Given the description of an element on the screen output the (x, y) to click on. 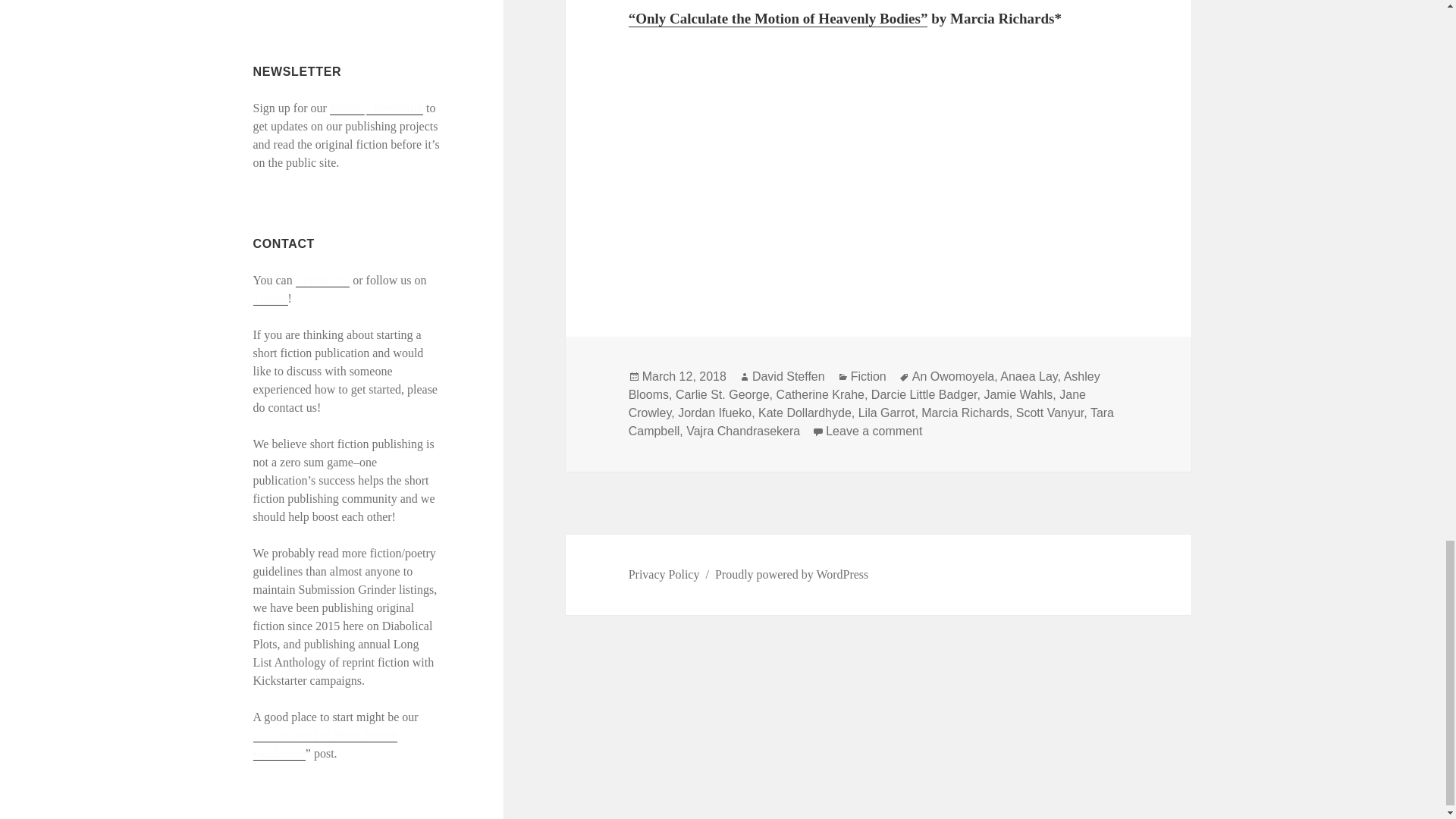
monthly newsletter (376, 108)
Contact Us (322, 280)
David Steffen (788, 377)
March 12, 2018 (684, 377)
Twitter (270, 298)
Fiction (868, 377)
